Given the description of an element on the screen output the (x, y) to click on. 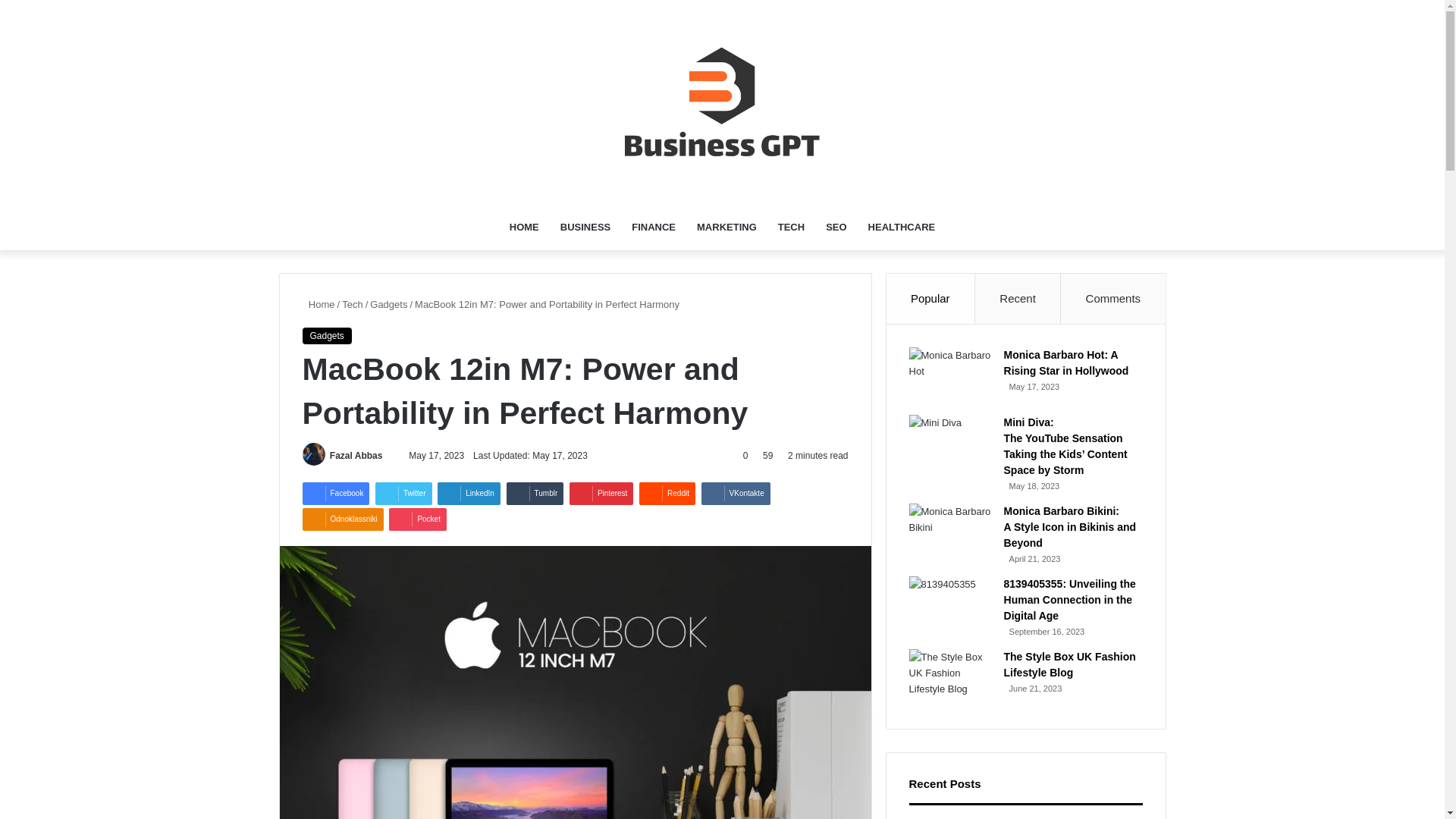
Pinterest (601, 493)
LinkedIn (469, 493)
Odnoklassniki (341, 518)
Facebook (335, 493)
MARKETING (726, 227)
Tech (352, 304)
Twitter (402, 493)
Reddit (667, 493)
VKontakte (735, 493)
Fazal Abbas (356, 455)
